Given the description of an element on the screen output the (x, y) to click on. 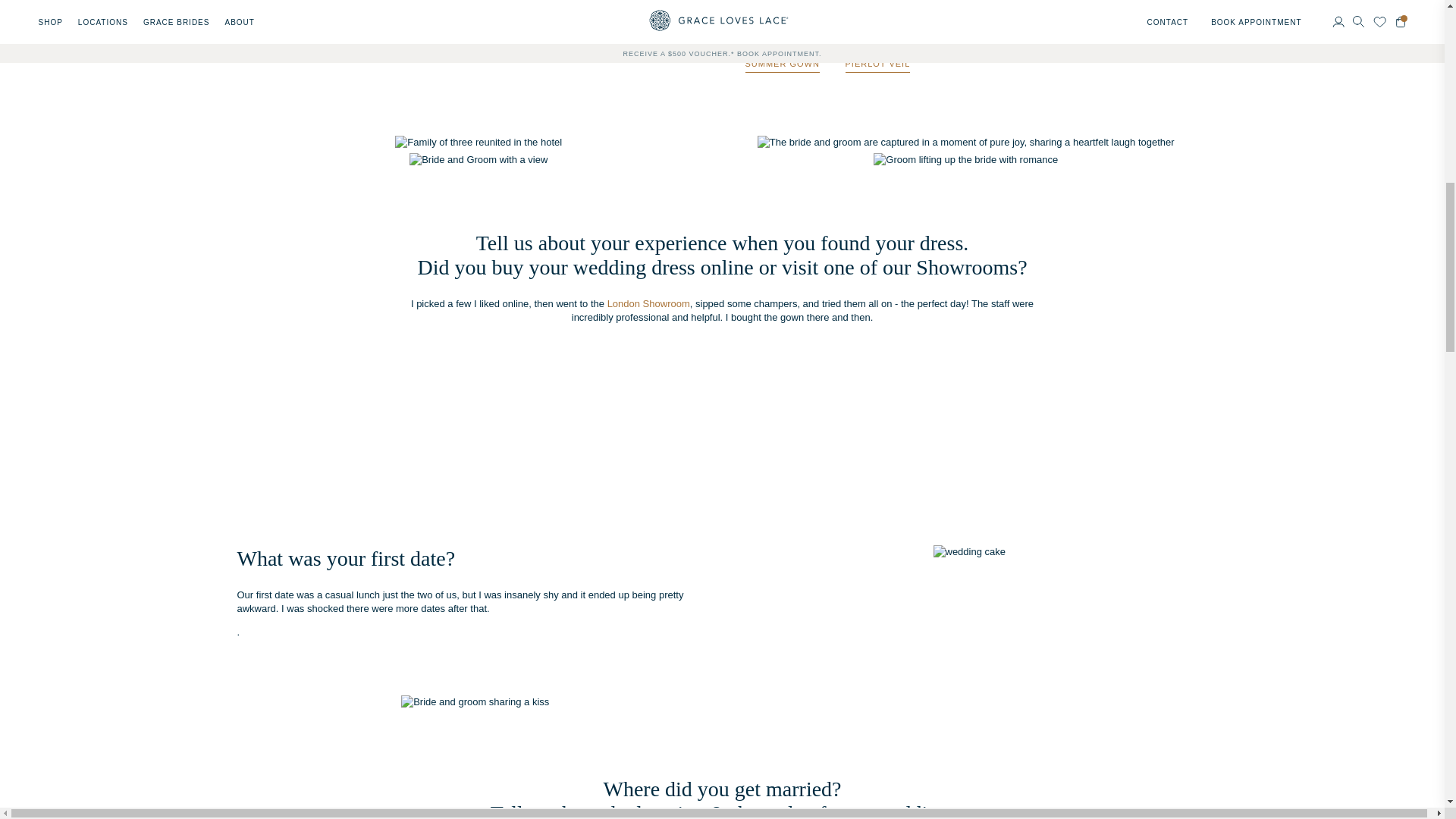
Page 1 (474, 601)
Page 2 (722, 310)
